Given the description of an element on the screen output the (x, y) to click on. 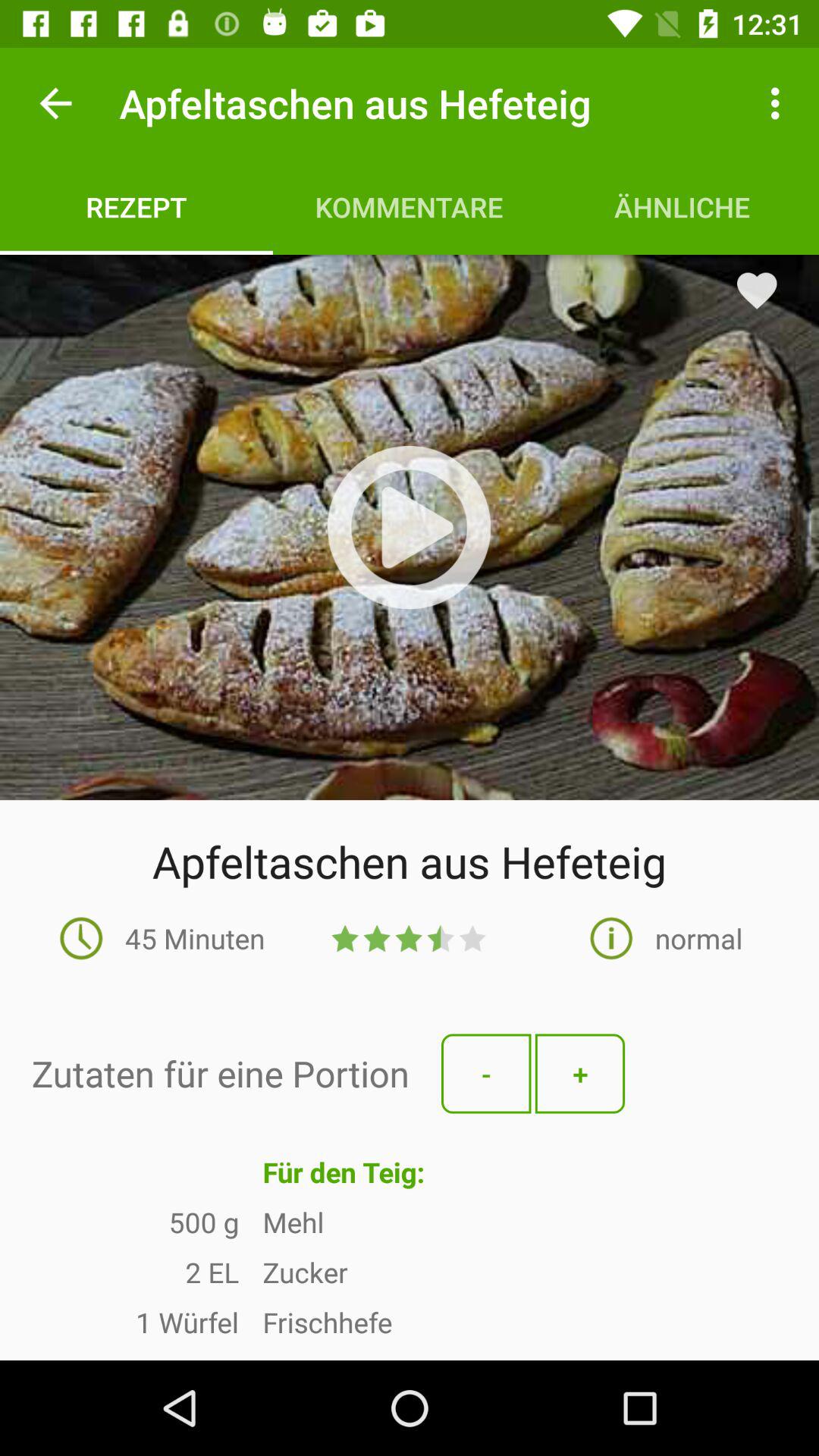
play the video (408, 527)
